Given the description of an element on the screen output the (x, y) to click on. 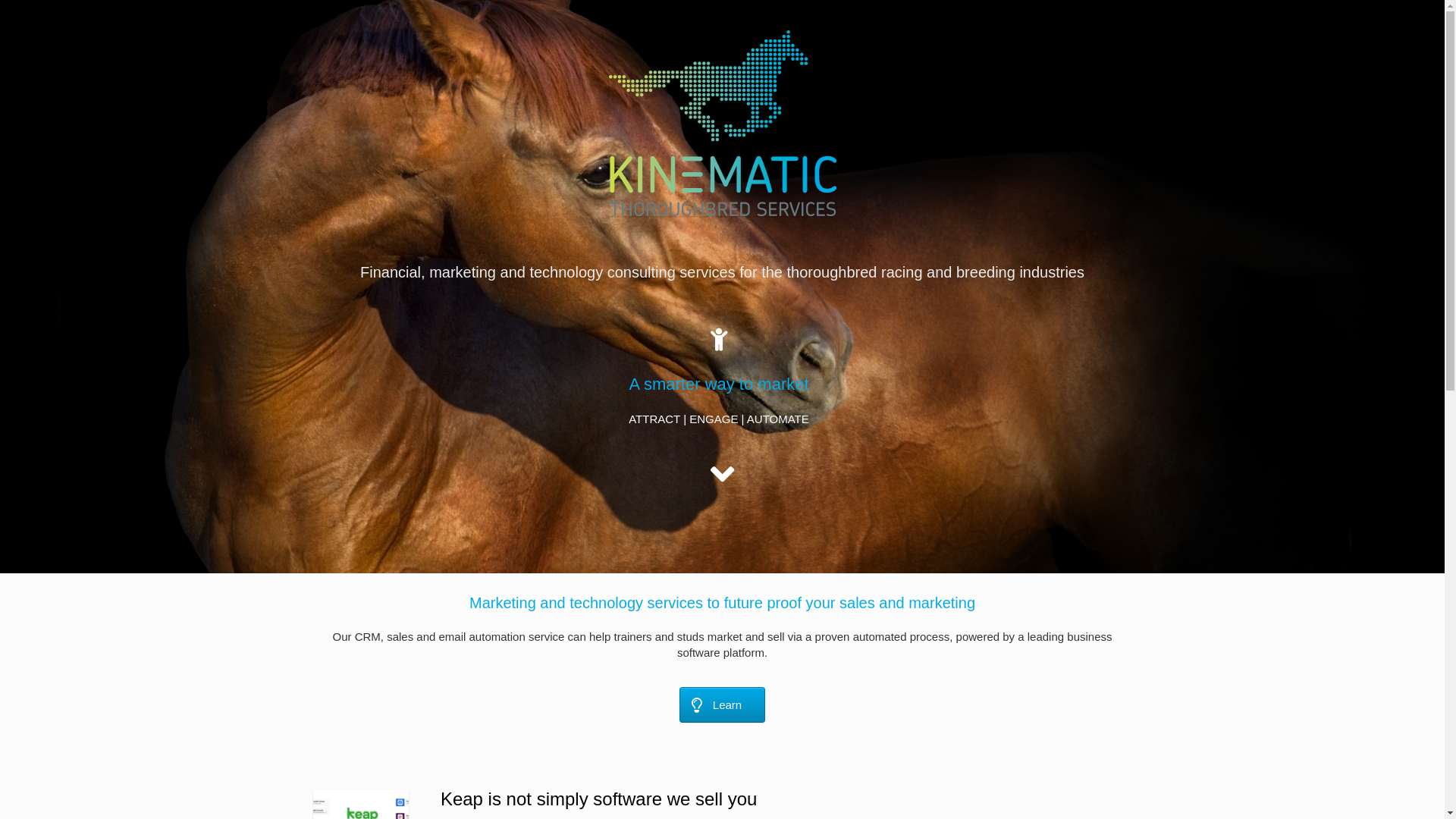
Kinematic Thoroughbred Services Element type: hover (721, 123)
Learn Element type: text (722, 704)
Keap is not simply software we sell you Element type: text (598, 798)
